Given the description of an element on the screen output the (x, y) to click on. 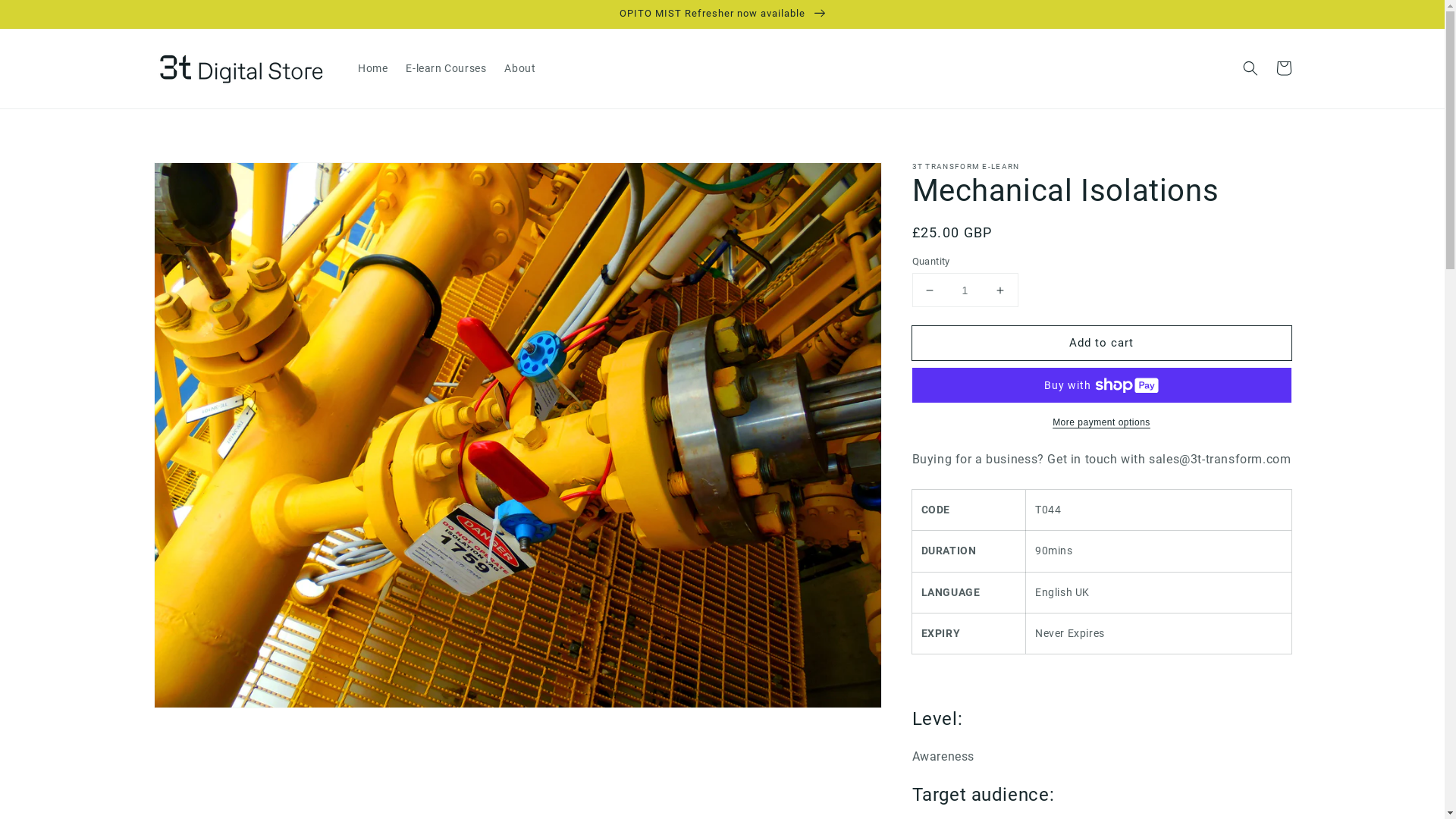
Cart Element type: text (1282, 67)
About Element type: text (519, 68)
Home Element type: text (372, 68)
More payment options Element type: text (1100, 421)
OPITO MIST Refresher now available Element type: text (722, 14)
Open media 1 in gallery view Element type: text (517, 435)
Skip to product information Element type: text (198, 178)
E-learn Courses Element type: text (445, 68)
Increase quantity for Mechanical Isolations Element type: text (999, 289)
Decrease quantity for Mechanical Isolations Element type: text (930, 289)
Add to cart Element type: text (1100, 343)
